Given the description of an element on the screen output the (x, y) to click on. 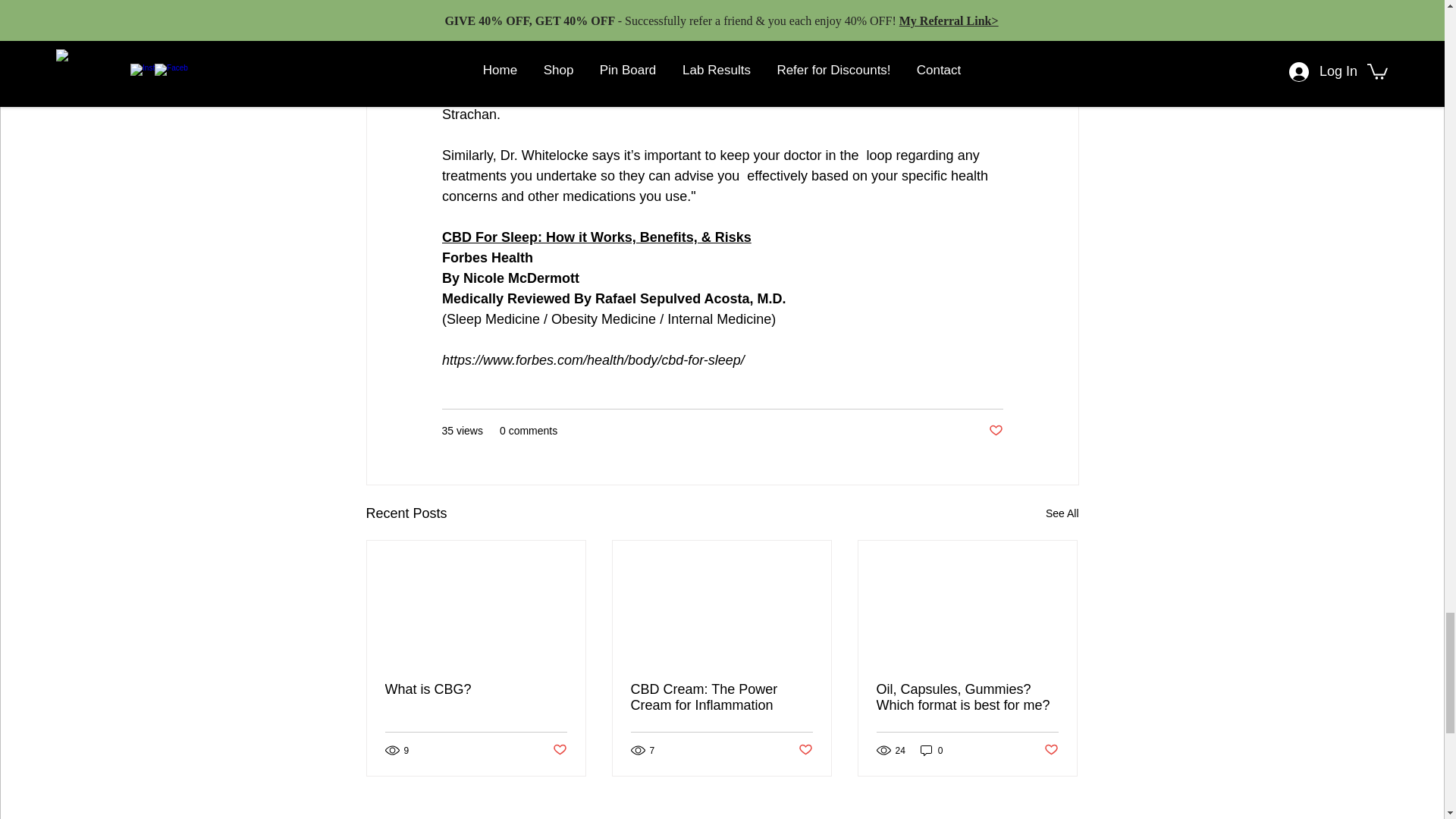
What is CBG? (476, 689)
Oil, Capsules, Gummies? Which format is best for me? (967, 697)
Post not marked as liked (558, 750)
CBD Cream: The Power Cream for Inflammation (721, 697)
0 (931, 749)
See All (1061, 513)
Post not marked as liked (804, 750)
Post not marked as liked (995, 430)
Post not marked as liked (1050, 750)
